Given the description of an element on the screen output the (x, y) to click on. 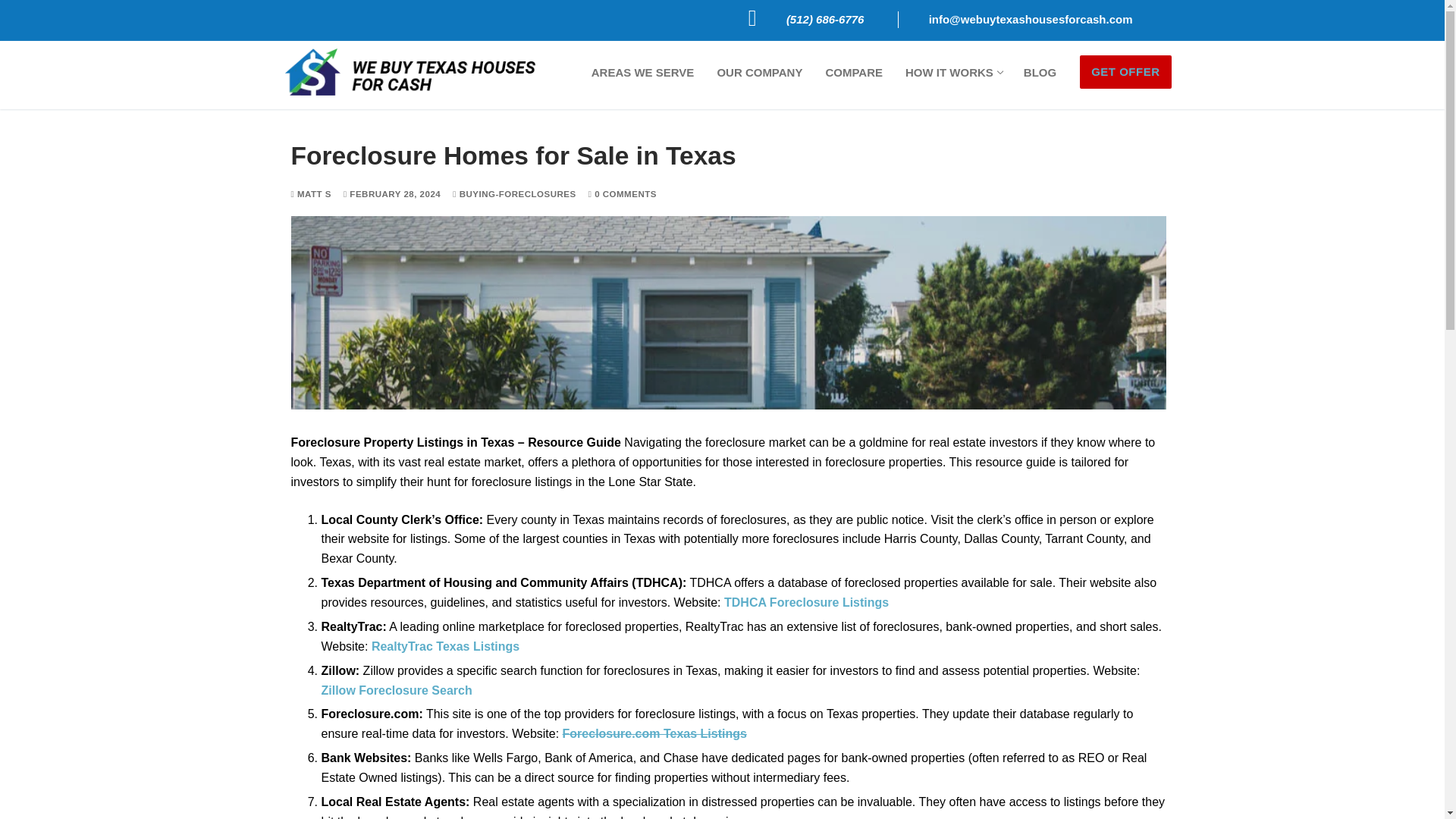
MATT S (311, 194)
FEBRUARY 28, 2024 (392, 194)
COMPARE (853, 71)
GET OFFER (1125, 71)
RealtyTrac Texas Listings (445, 645)
Foreclosure.com Texas Listings (654, 733)
BLOG (952, 71)
Zillow Foreclosure Search (1039, 71)
OUR COMPANY (396, 689)
BUYING-FORECLOSURES (758, 71)
AREAS WE SERVE (514, 194)
0 COMMENTS (642, 71)
TDHCA Foreclosure Listings (622, 194)
